Given the description of an element on the screen output the (x, y) to click on. 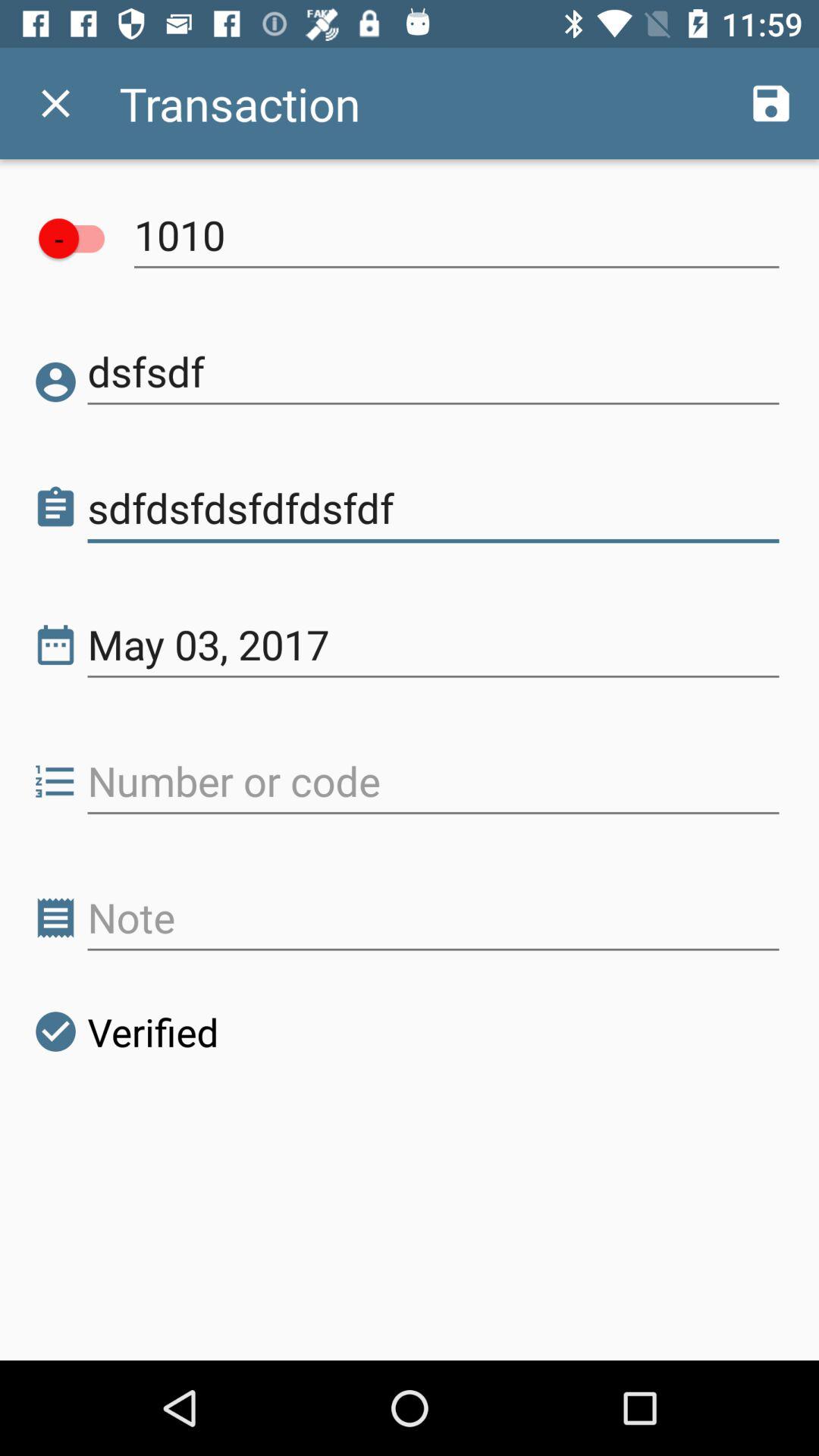
select dsfsdf item (433, 371)
